Given the description of an element on the screen output the (x, y) to click on. 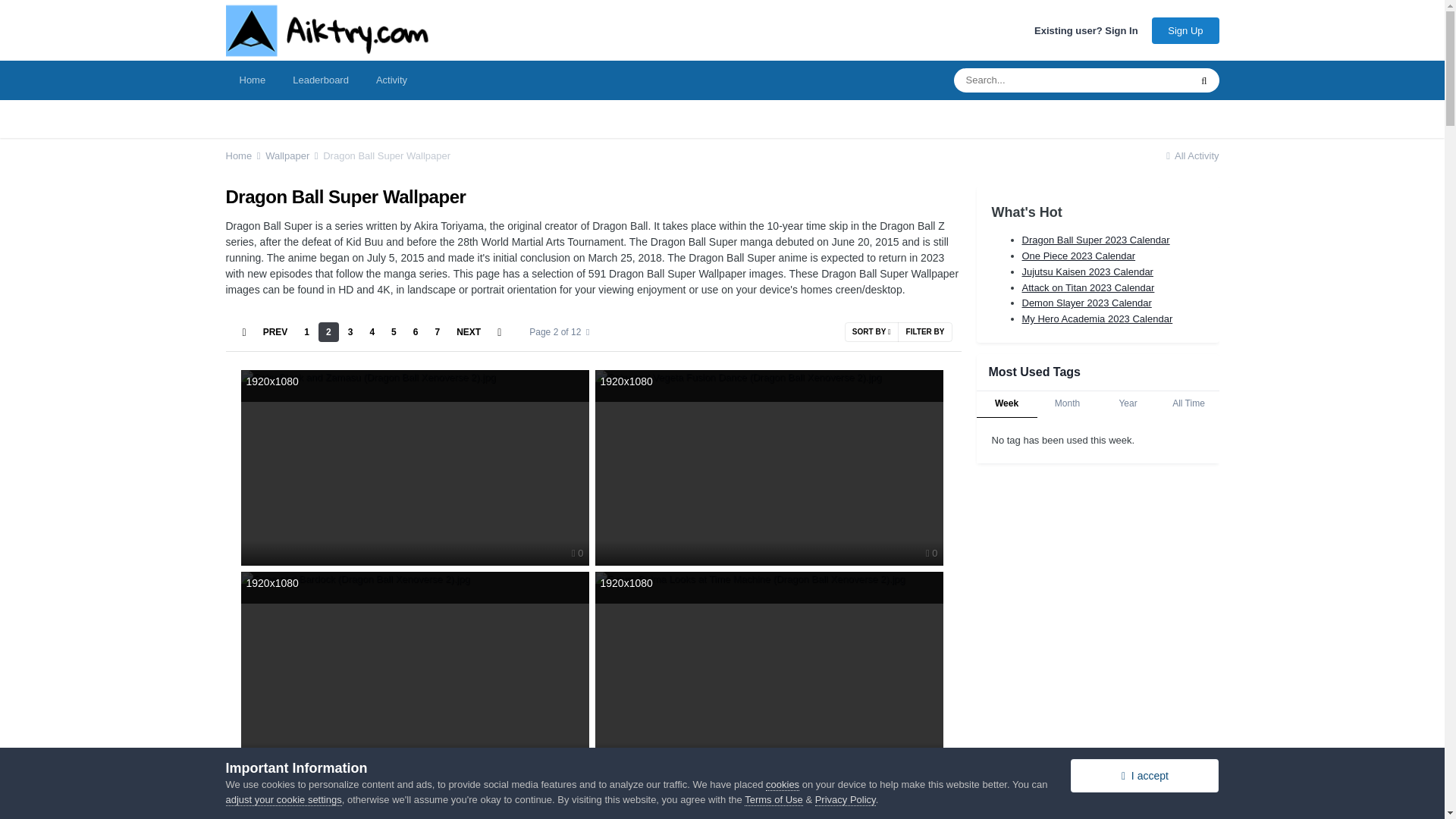
NEXT (467, 332)
First page (243, 332)
SORT BY (871, 332)
2 (328, 332)
5 (394, 332)
Dragon Ball Super Wallpaper (386, 155)
1 (307, 332)
Next page (467, 332)
Home (244, 155)
6 (416, 332)
Previous page (275, 332)
4 (371, 332)
Existing user? Sign In (1085, 30)
3 (350, 332)
7 (436, 332)
